Given the description of an element on the screen output the (x, y) to click on. 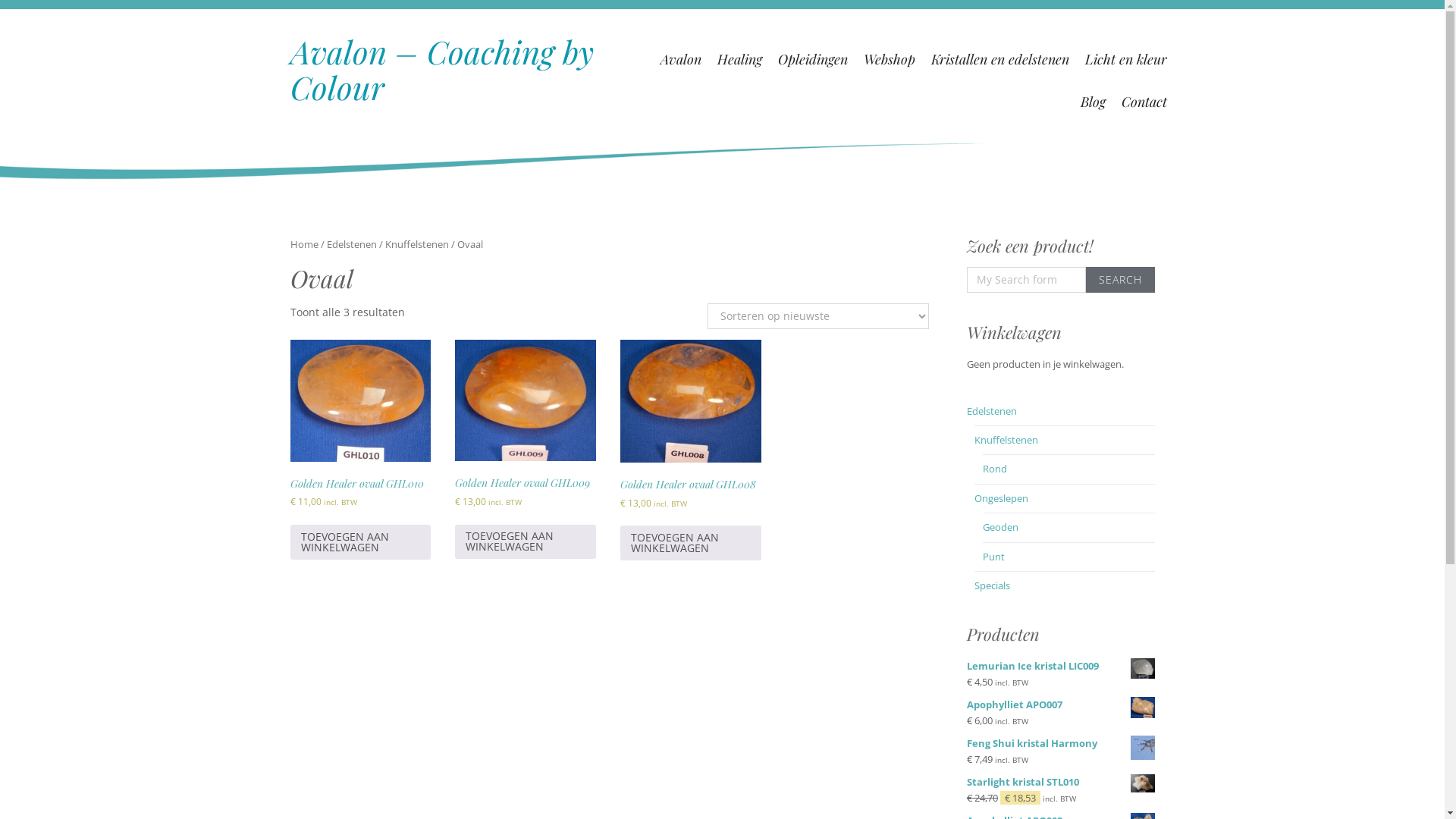
Blog Element type: text (1092, 101)
Punt Element type: text (993, 556)
Apophylliet APO007 Element type: text (1060, 704)
Healing Element type: text (739, 58)
Ongeslepen Element type: text (1001, 498)
Knuffelstenen Element type: text (416, 244)
TOEVOEGEN AAN WINKELWAGEN Element type: text (525, 541)
Kristallen en edelstenen Element type: text (1000, 58)
Opleidingen Element type: text (812, 58)
Geoden Element type: text (1000, 526)
Edelstenen Element type: text (991, 410)
Contact Element type: text (1144, 101)
Home Element type: text (303, 244)
Lemurian Ice kristal LIC009 Element type: text (1060, 666)
Rond Element type: text (994, 468)
Feng Shui kristal Harmony Element type: text (1060, 743)
TOEVOEGEN AAN WINKELWAGEN Element type: text (690, 542)
TOEVOEGEN AAN WINKELWAGEN Element type: text (359, 541)
Search Element type: text (1119, 279)
Specials Element type: text (992, 585)
Licht en kleur Element type: text (1126, 58)
Knuffelstenen Element type: text (1006, 439)
Webshop Element type: text (889, 58)
Avalon Element type: text (680, 58)
Edelstenen Element type: text (351, 244)
Starlight kristal STL010 Element type: text (1060, 782)
